Given the description of an element on the screen output the (x, y) to click on. 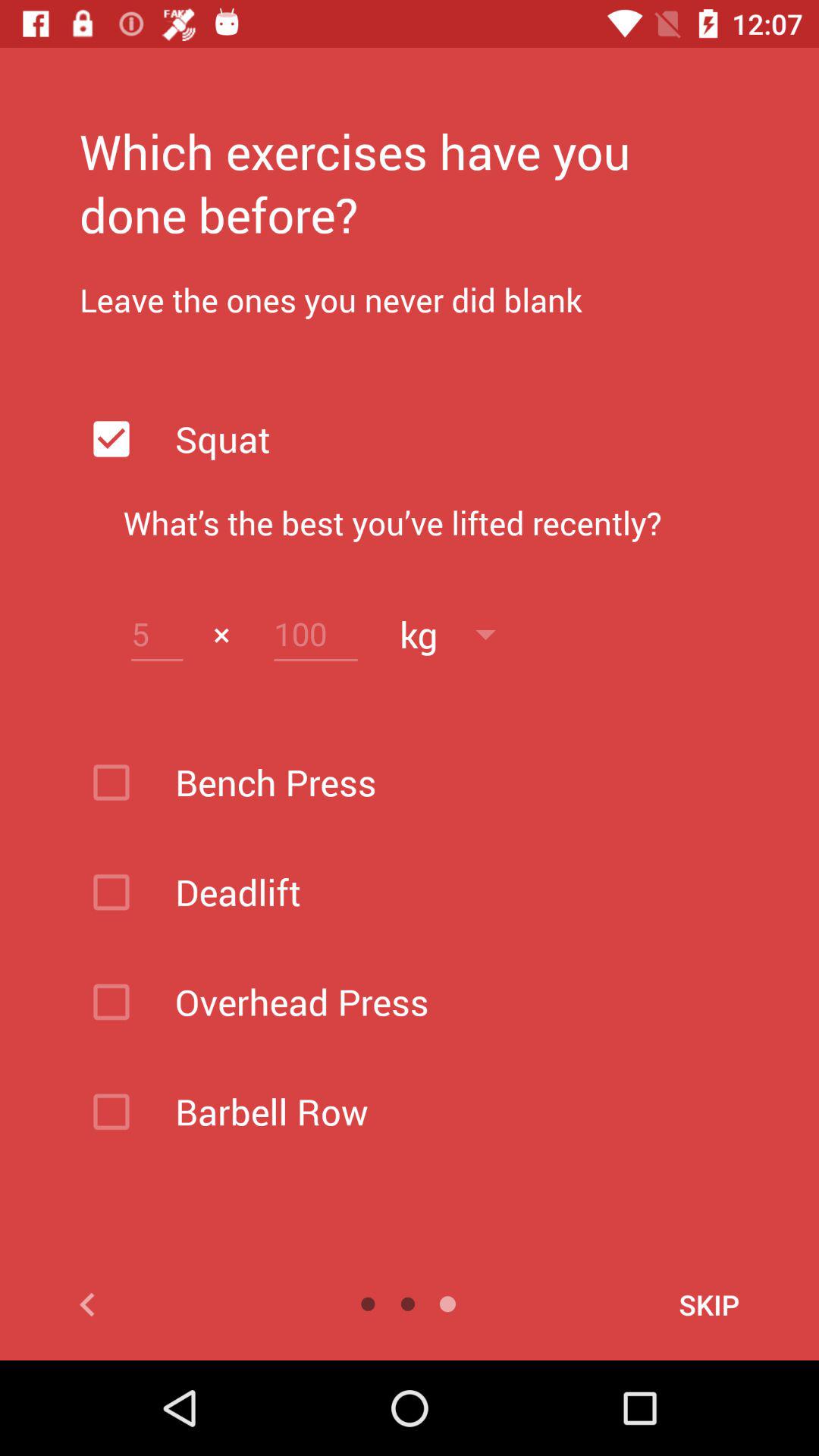
go back (160, 1304)
